Given the description of an element on the screen output the (x, y) to click on. 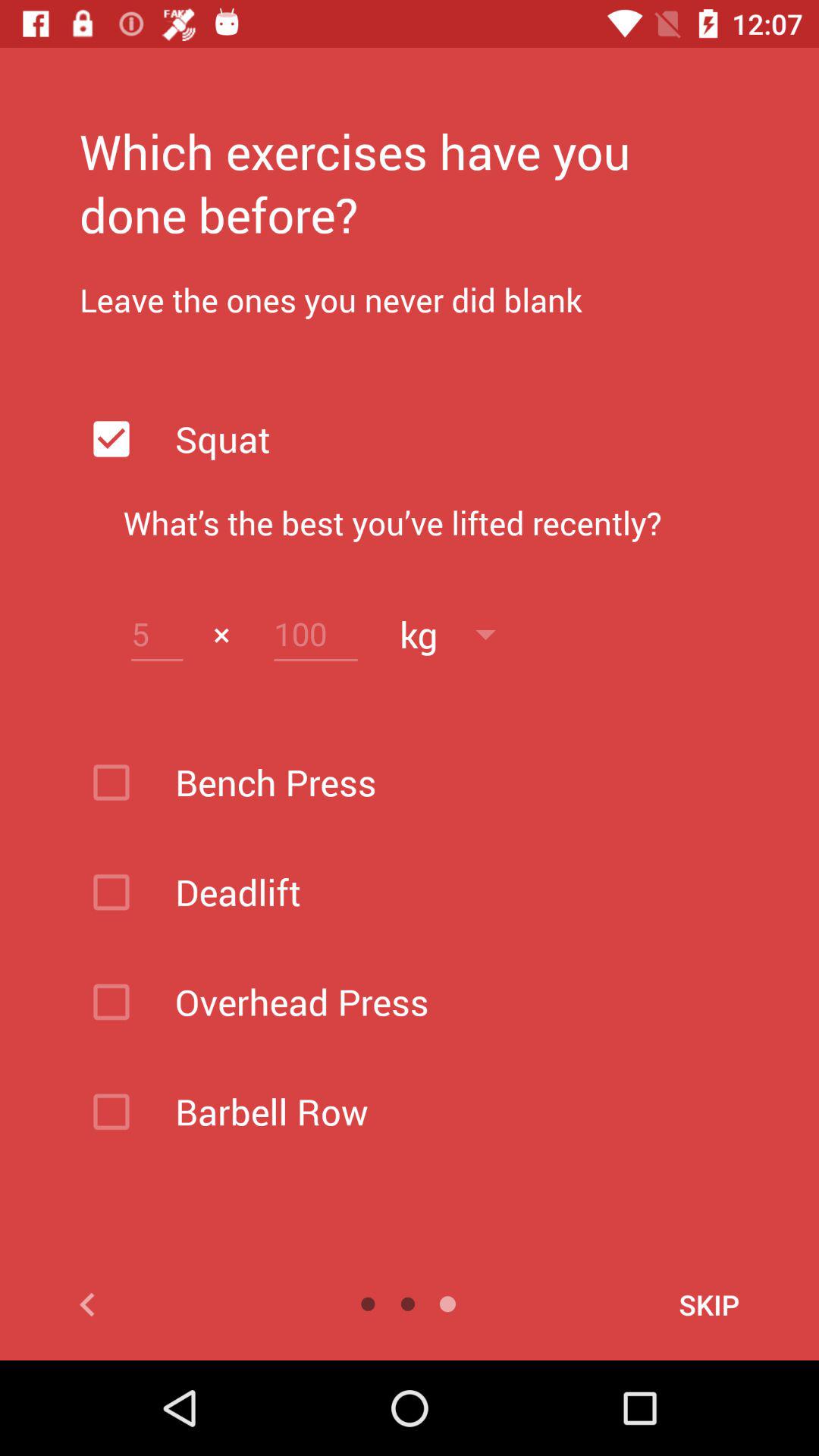
go back (160, 1304)
